Given the description of an element on the screen output the (x, y) to click on. 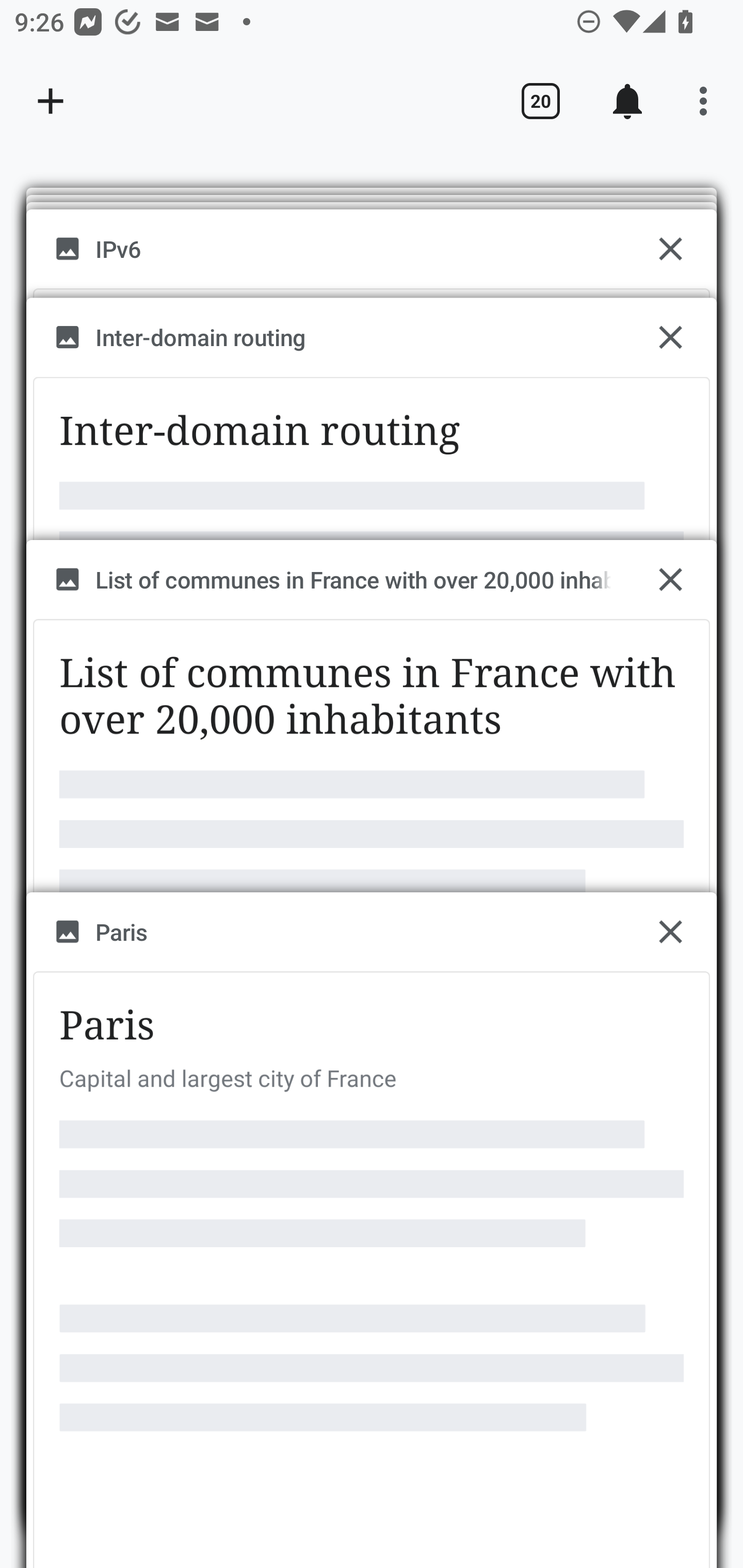
Back 20 (540, 100)
Notifications (626, 100)
New tab (50, 101)
More options (706, 101)
